Given the description of an element on the screen output the (x, y) to click on. 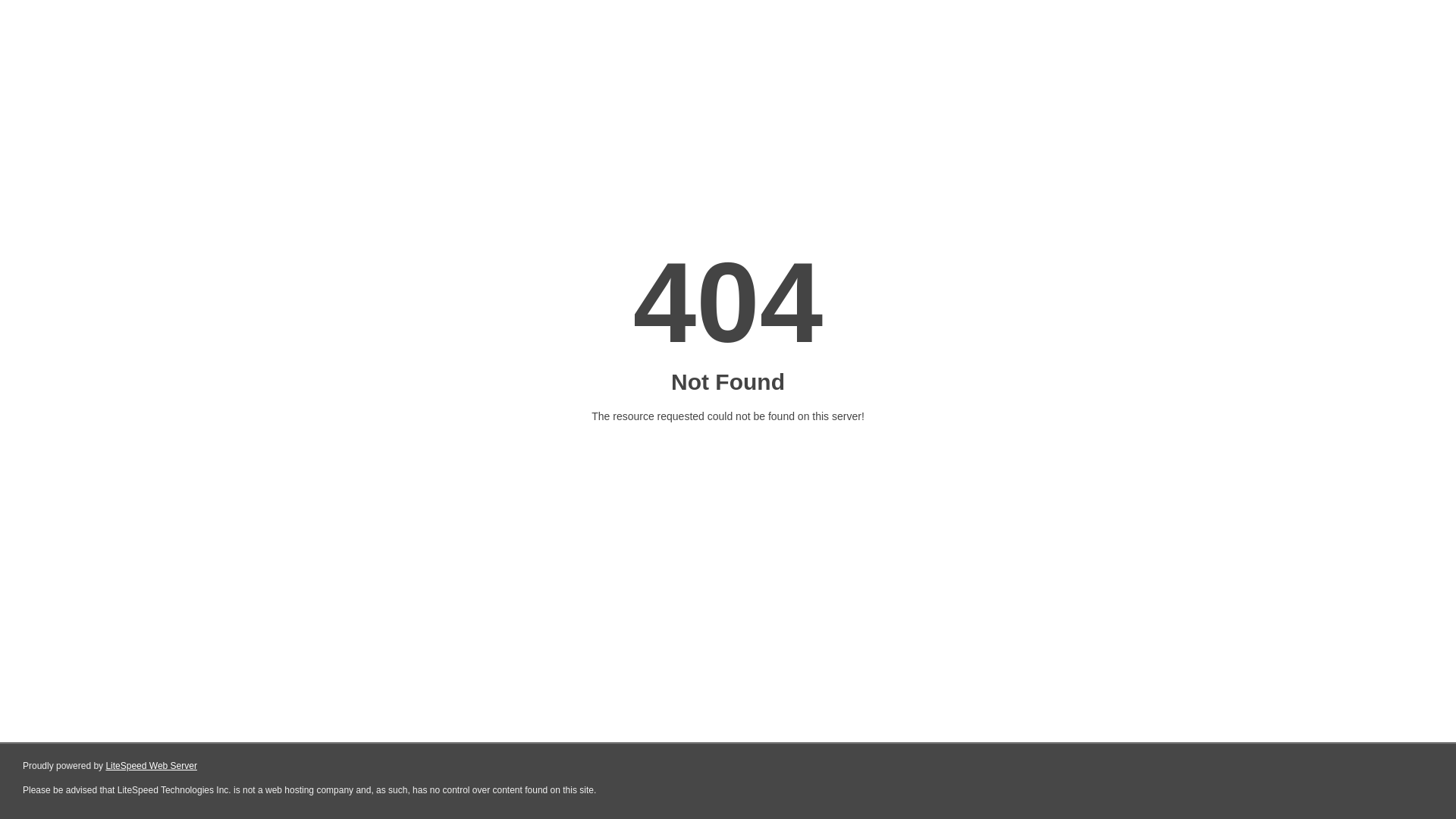
LiteSpeed Web Server Element type: text (151, 765)
